Given the description of an element on the screen output the (x, y) to click on. 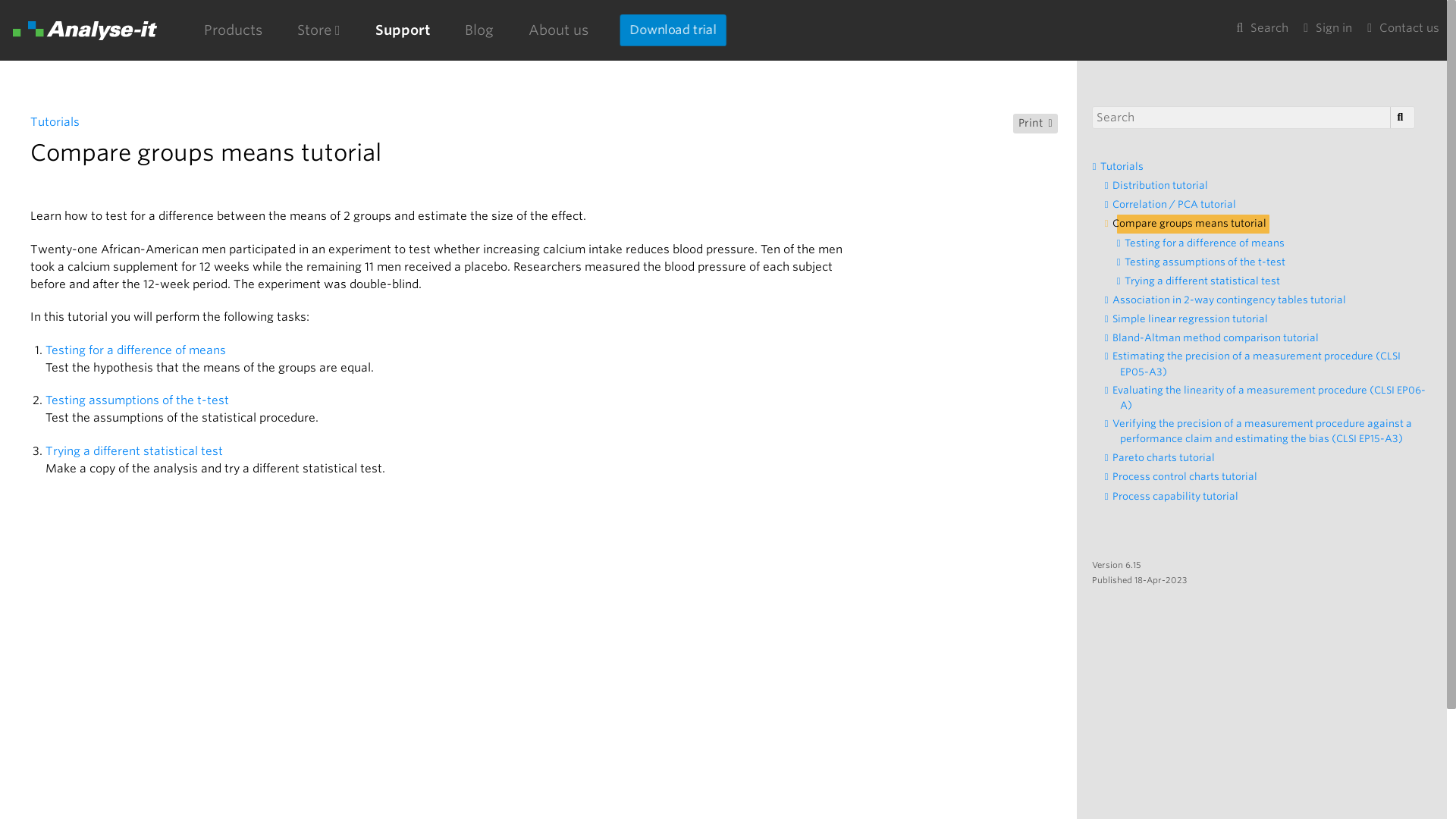
Download trial (673, 30)
 Process control charts tutorial (1188, 476)
Support (402, 29)
Contact us (1402, 28)
 Trying a different statistical test (1206, 280)
Search (1261, 28)
Testing assumptions of the t-test (137, 400)
 Distribution tutorial (1163, 185)
Tutorials (54, 122)
Testing for a difference of means (135, 350)
